Given the description of an element on the screen output the (x, y) to click on. 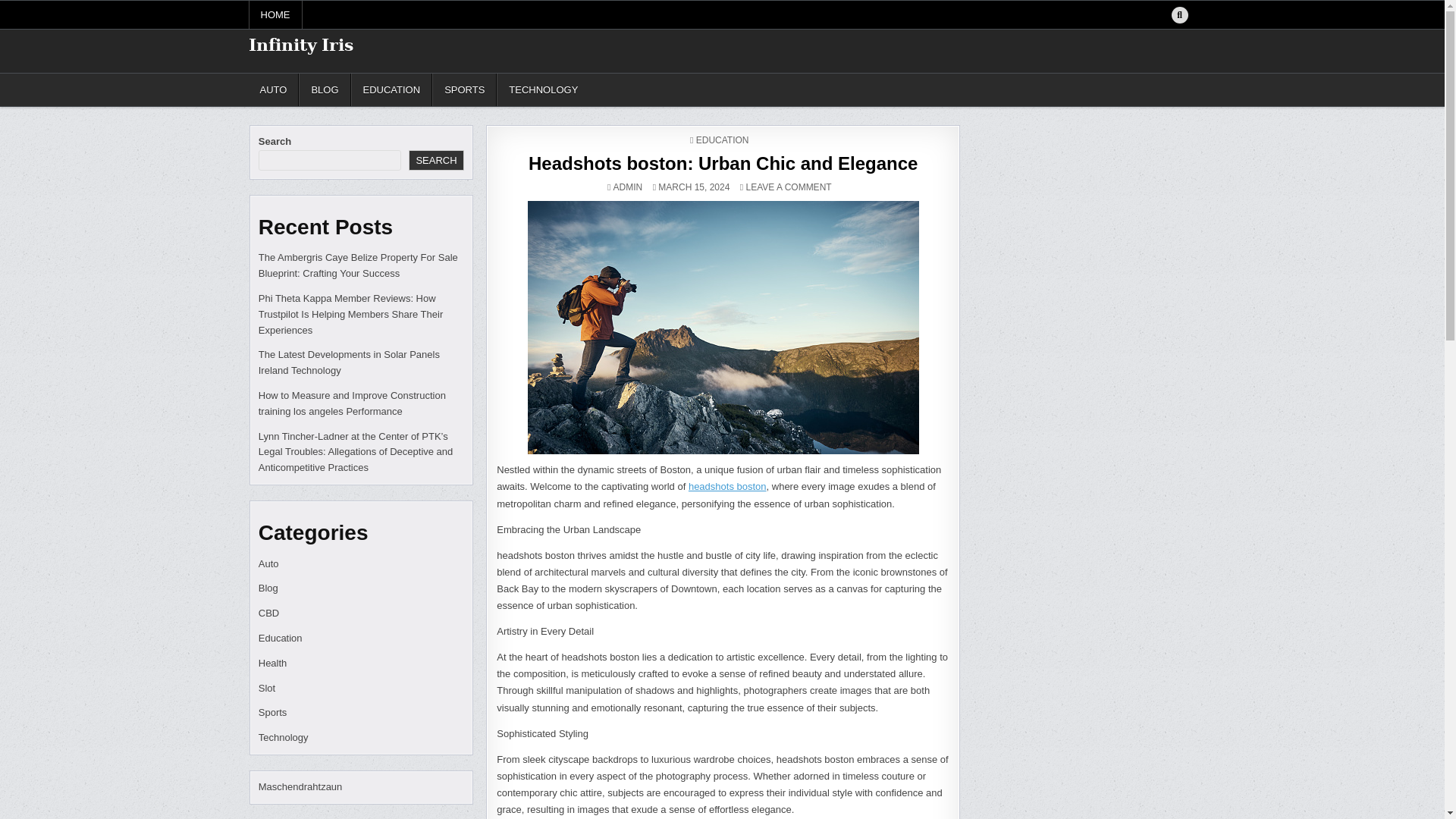
HOME (275, 14)
ADMIN (627, 186)
TECHNOLOGY (542, 89)
SEARCH (436, 159)
Headshots boston: Urban Chic and Elegance (722, 327)
Sports (272, 712)
EDUCATION (722, 140)
Headshots boston: Urban Chic and Elegance (788, 186)
AUTO (722, 163)
Education (273, 89)
Blog (280, 637)
Slot (268, 587)
